Given the description of an element on the screen output the (x, y) to click on. 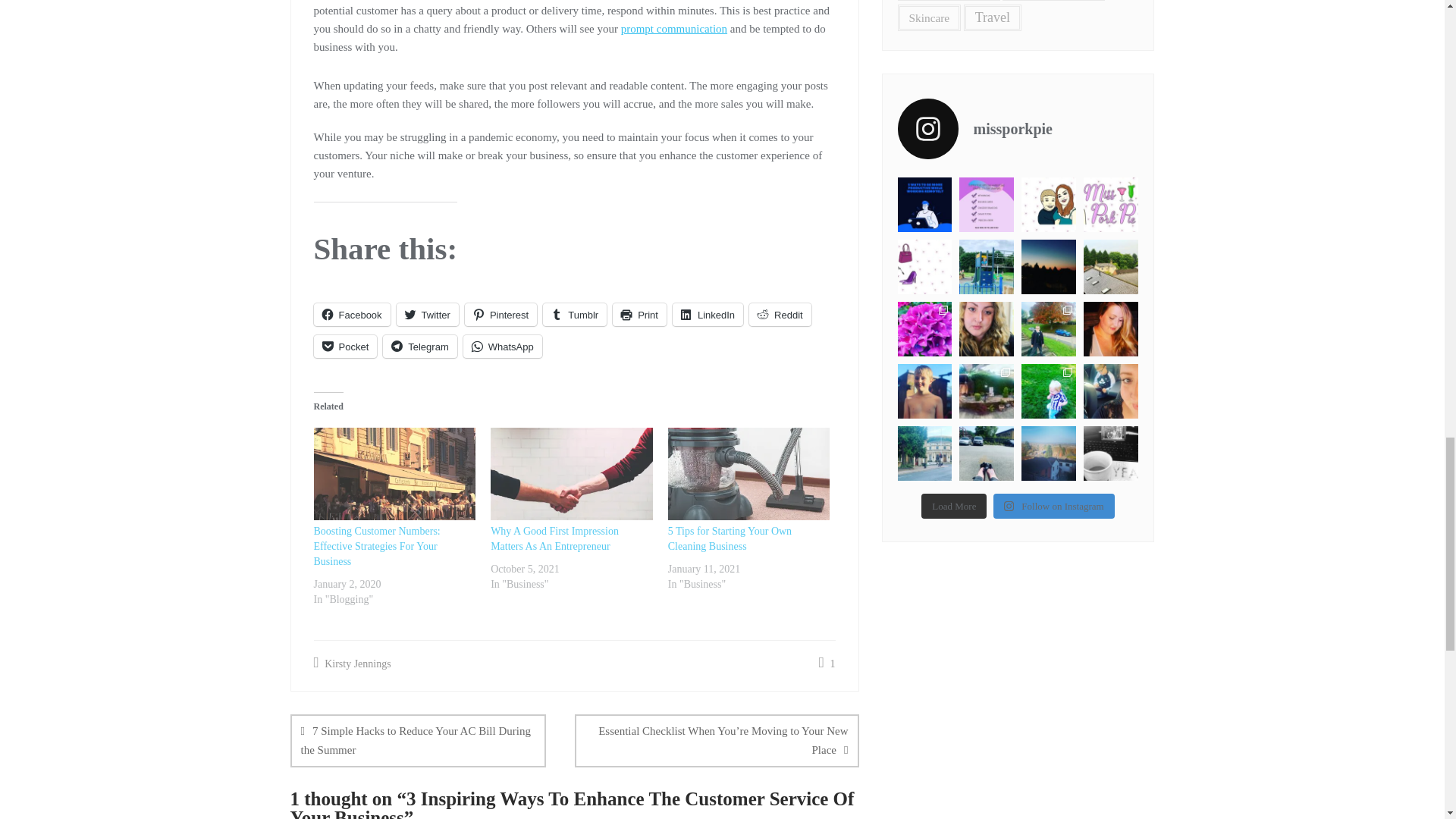
Click to share on Twitter (427, 314)
Click to share on LinkedIn (707, 314)
Click to share on WhatsApp (502, 345)
Click to share on Reddit (779, 314)
Click to share on Pocket (345, 345)
Click to share on Facebook (352, 314)
Click to share on Tumblr (575, 314)
Click to share on Telegram (419, 345)
Click to print (639, 314)
Click to share on Pinterest (500, 314)
